Given the description of an element on the screen output the (x, y) to click on. 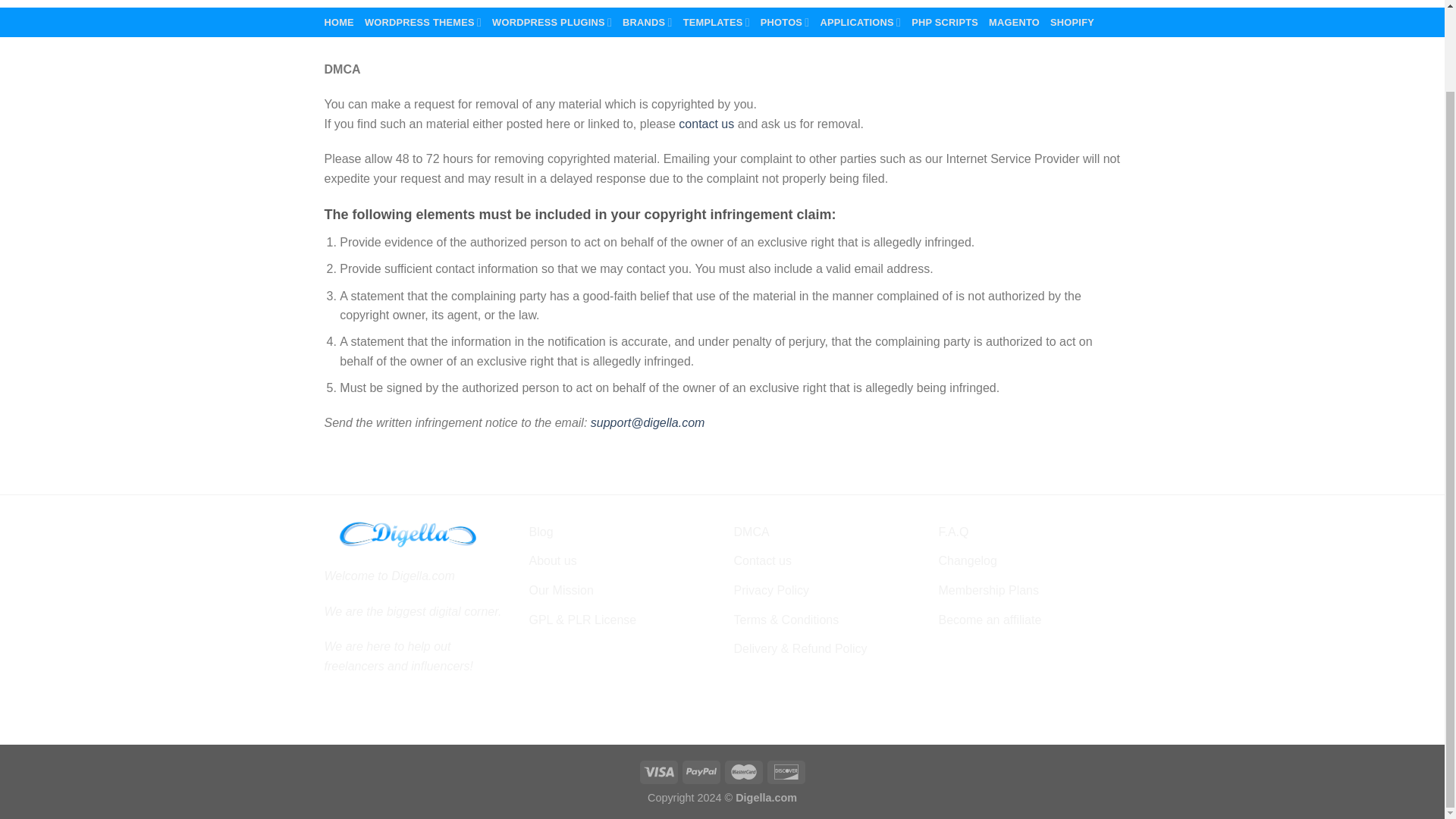
WORDPRESS PLUGINS (551, 21)
HOME (338, 22)
WORDPRESS THEMES (423, 21)
